Given the description of an element on the screen output the (x, y) to click on. 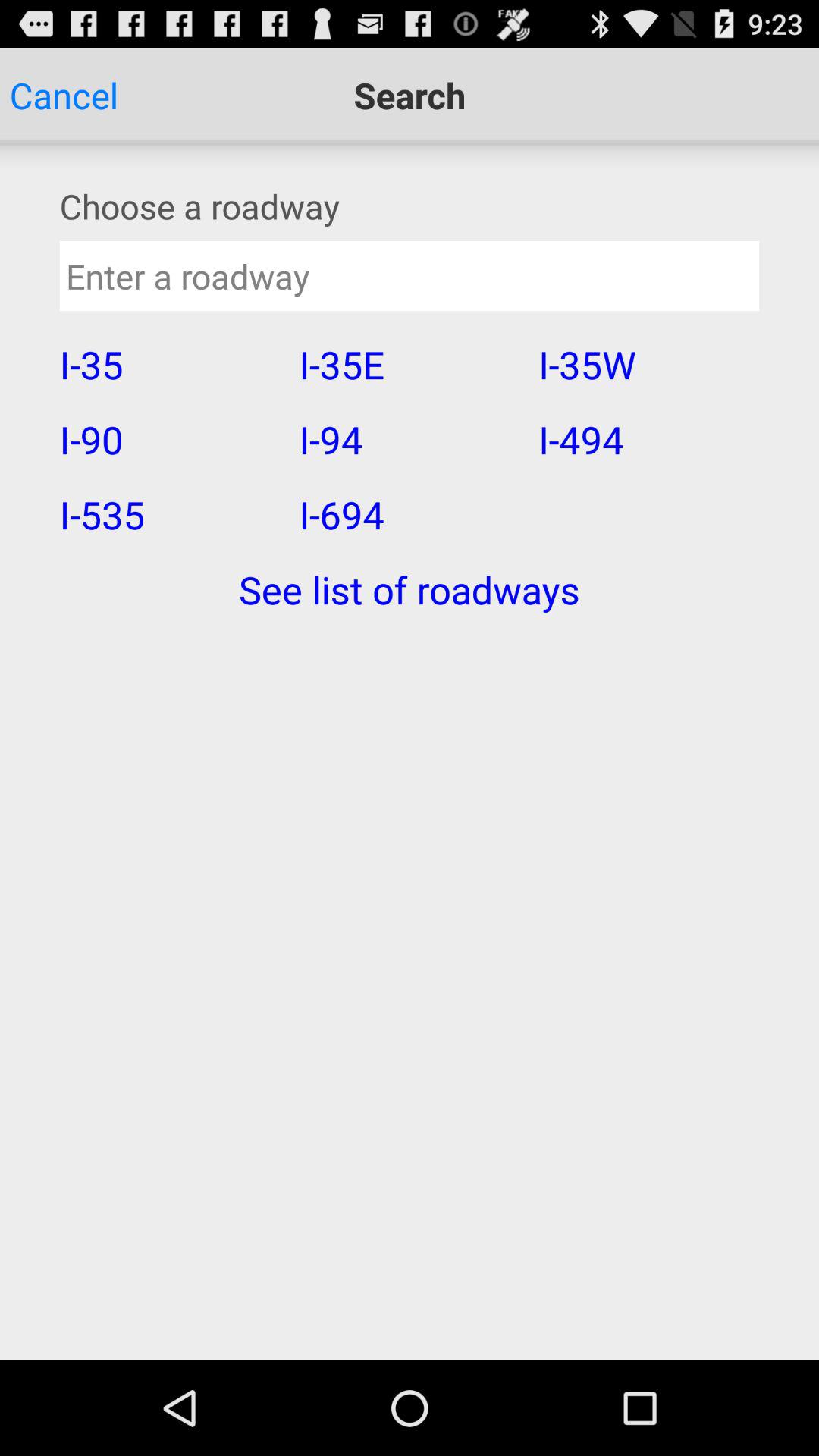
flip to the i-90 app (169, 439)
